Given the description of an element on the screen output the (x, y) to click on. 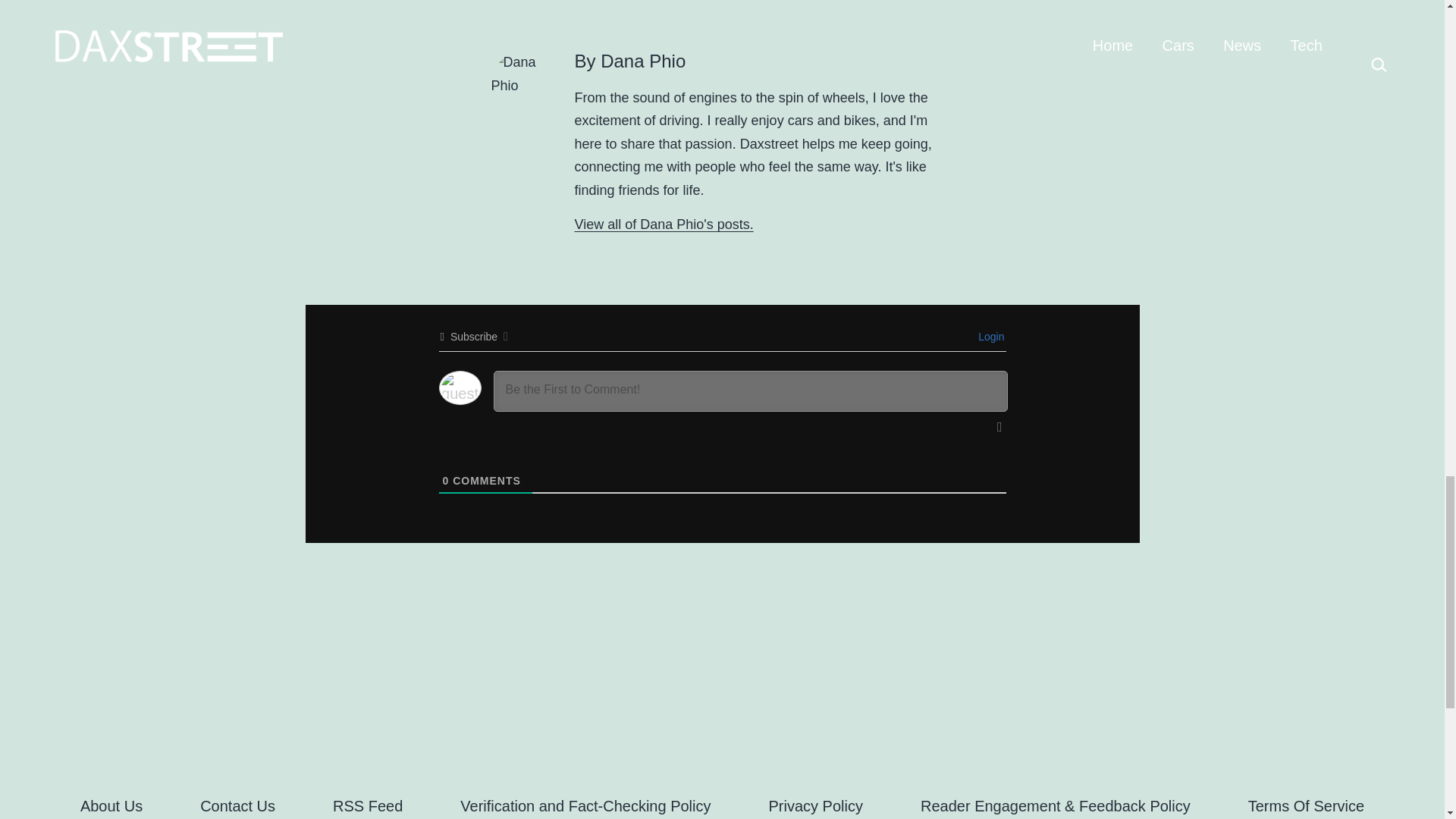
View all of Dana Phio's posts. (664, 224)
Privacy Policy (815, 802)
Terms Of Service (1305, 802)
About Us (111, 802)
Login (989, 336)
Verification and Fact-Checking Policy (585, 802)
Contact Us (236, 802)
RSS Feed (367, 802)
